Given the description of an element on the screen output the (x, y) to click on. 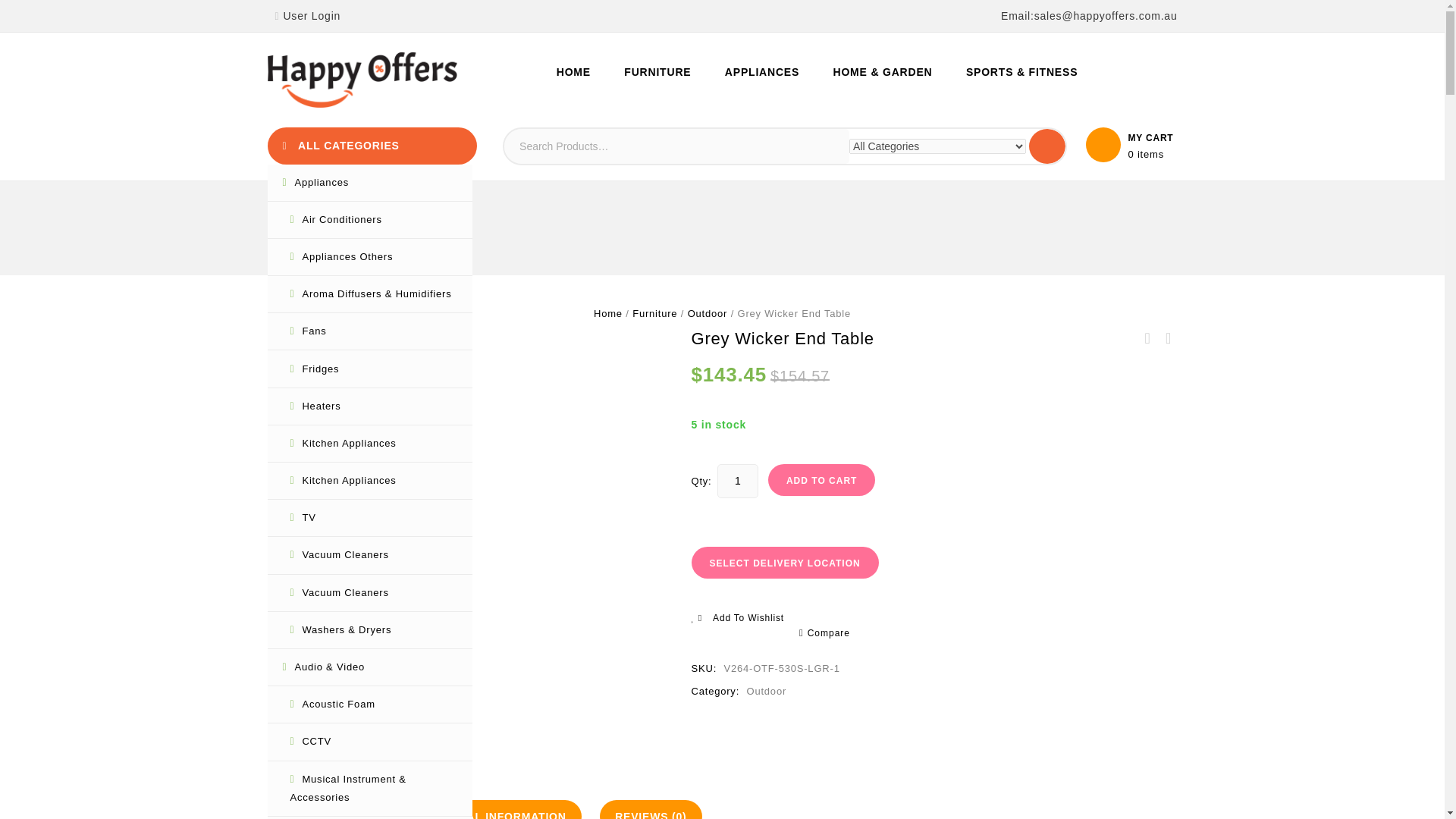
View your shopping cart (1149, 154)
User Login (306, 15)
Qty (737, 480)
FURNITURE (657, 72)
HOME (573, 72)
Search for: (675, 145)
happyoffers.com.au (361, 79)
View your shopping cart (1131, 144)
Search (1047, 145)
1 (737, 480)
APPLIANCES (761, 72)
